Given the description of an element on the screen output the (x, y) to click on. 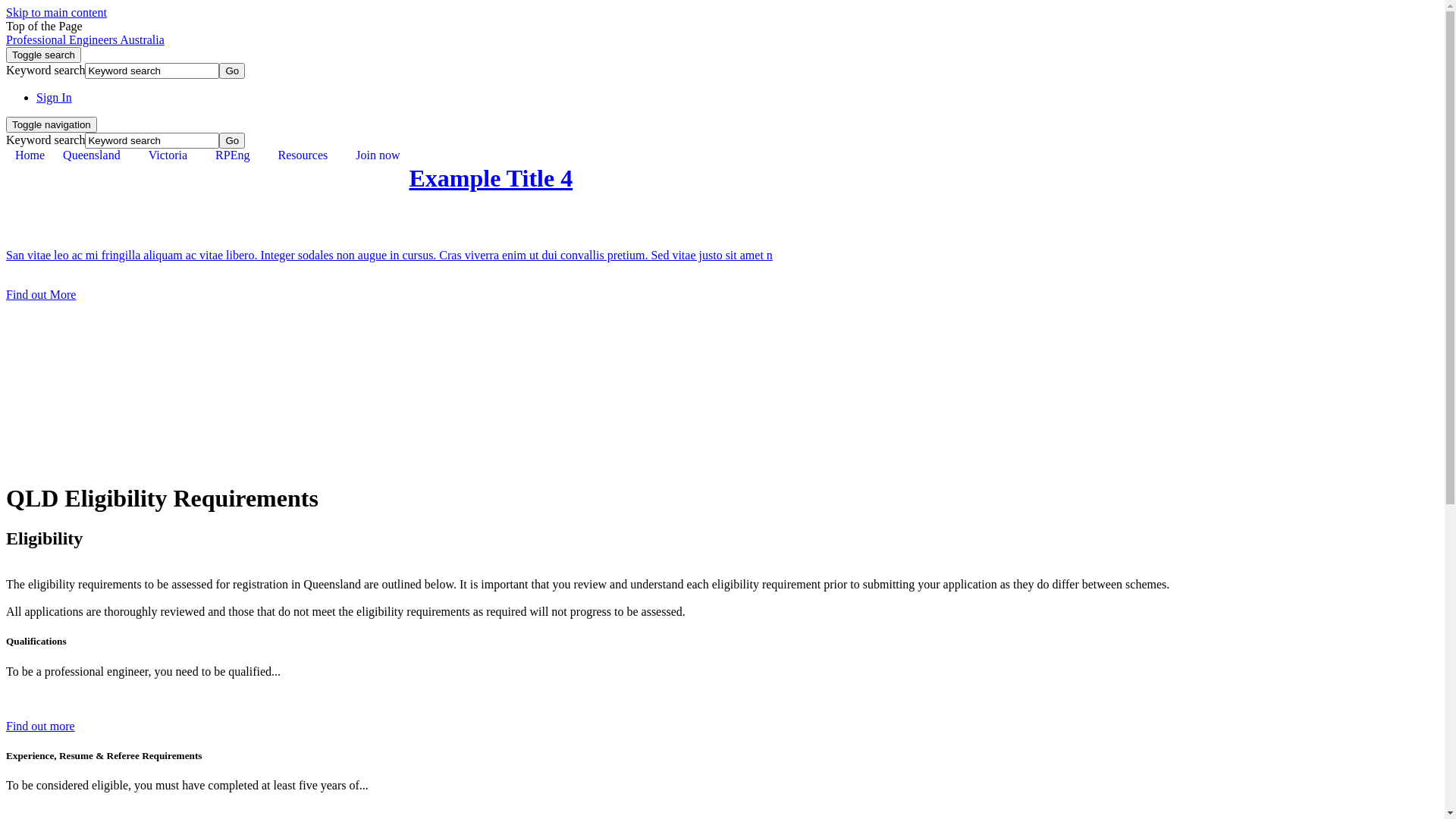
Queensland
Toggle Element type: text (96, 157)
Skip to main content Element type: text (56, 12)
Toggle search Element type: text (43, 54)
Victoria
Toggle Element type: text (172, 157)
Resources
Toggle Element type: text (307, 157)
Join now Element type: text (377, 155)
Go Element type: text (231, 140)
Toggle navigation Element type: text (51, 124)
Sign In Element type: text (54, 97)
RPEng
Toggle Element type: text (237, 157)
Top of the Page Element type: text (44, 25)
Home Element type: text (29, 155)
Go Element type: text (231, 70)
Professional Engineers Australia Element type: text (85, 39)
Find out more Element type: text (40, 725)
